Given the description of an element on the screen output the (x, y) to click on. 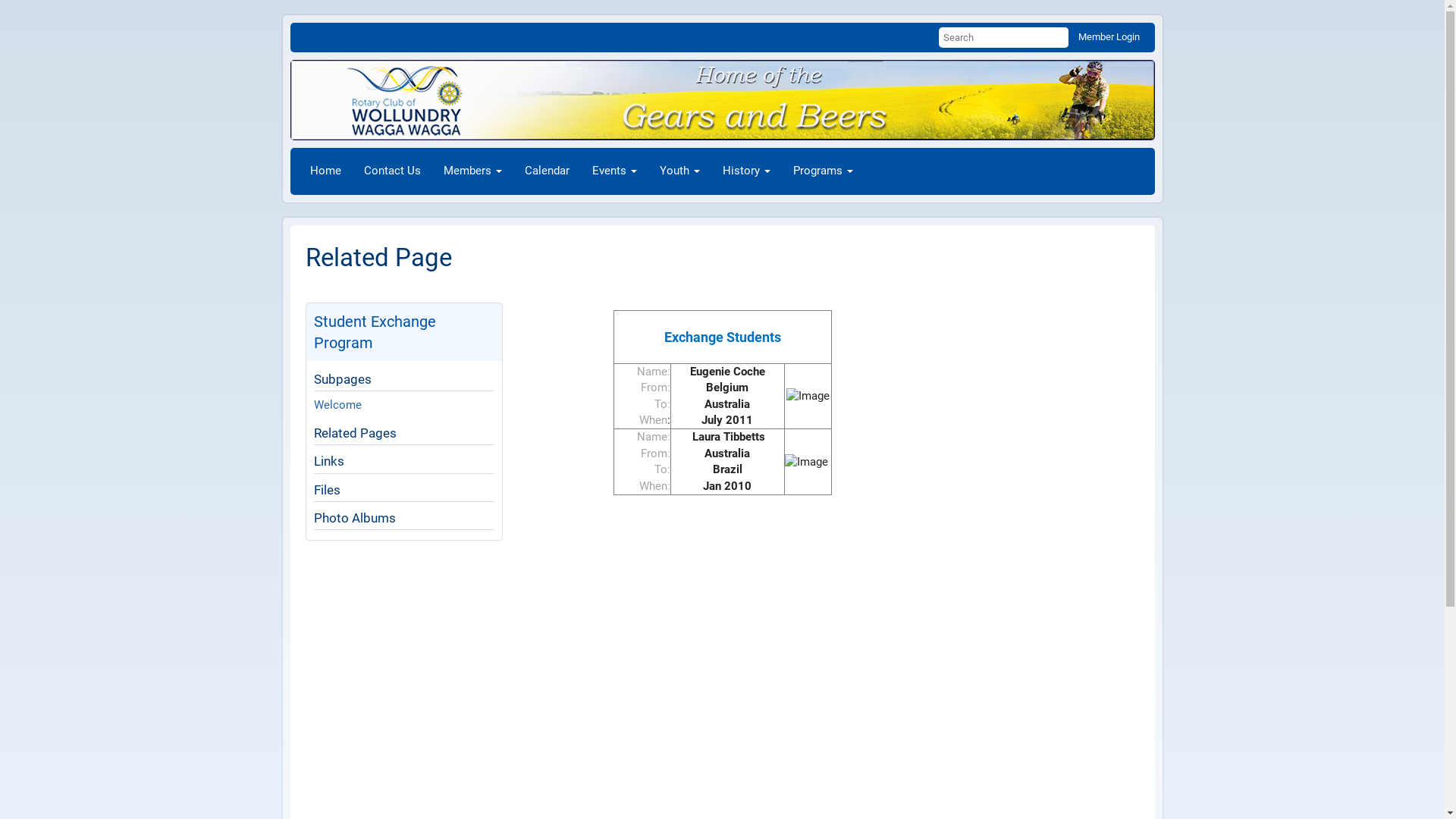
Home Element type: text (325, 171)
Programs Element type: text (822, 171)
Member Login Element type: text (1108, 36)
Youth Element type: text (678, 171)
Welcome Element type: text (337, 404)
Events Element type: text (614, 171)
Members Element type: text (472, 171)
History Element type: text (746, 171)
Calendar Element type: text (546, 171)
Contact Us Element type: text (391, 171)
